Given the description of an element on the screen output the (x, y) to click on. 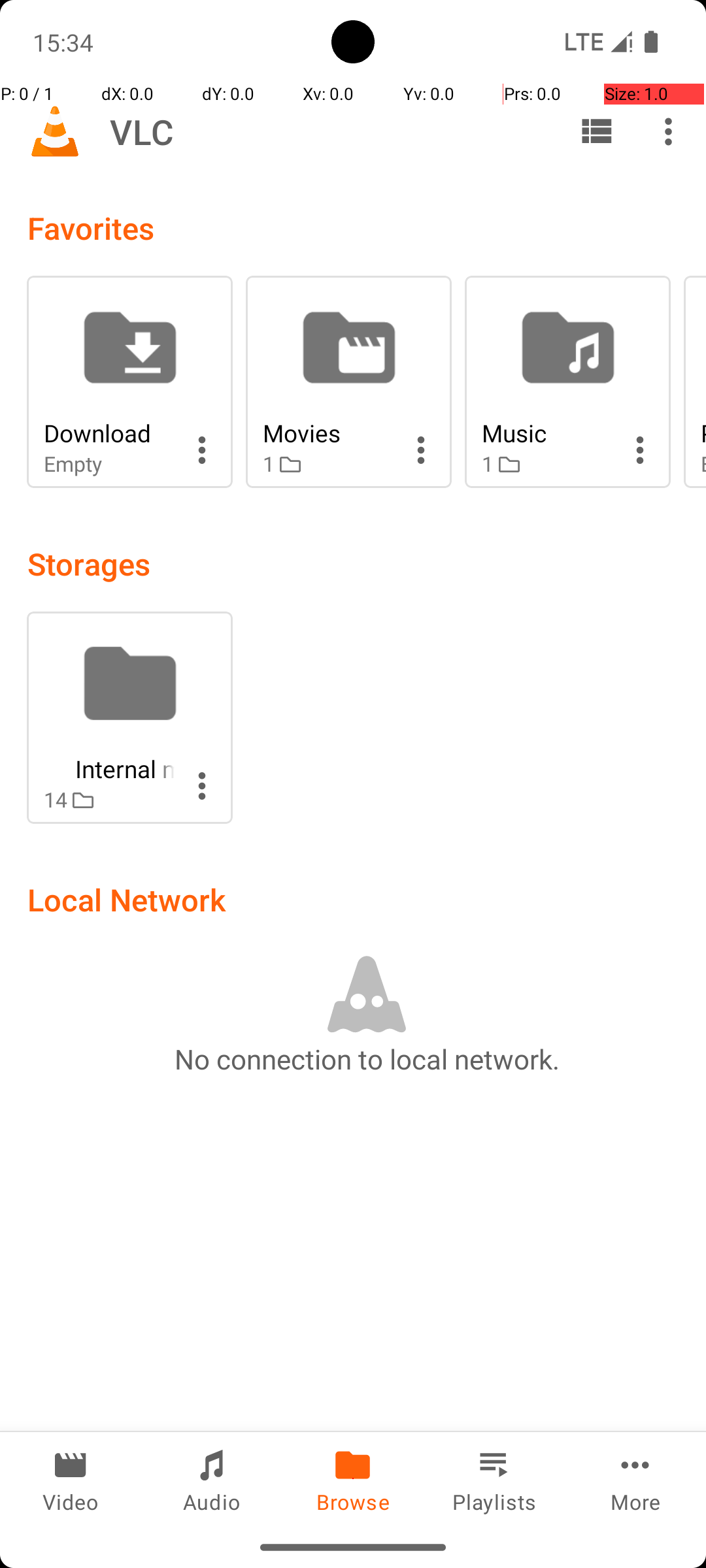
Display in list Element type: android.widget.TextView (595, 131)
Storages Element type: android.widget.TextView (88, 563)
Local Network Element type: android.widget.TextView (126, 898)
No connection to local network. Element type: android.widget.TextView (366, 1058)
Favorite: Download, Empty Element type: androidx.cardview.widget.CardView (129, 381)
Favorite: Movies, 1 subfolder Element type: androidx.cardview.widget.CardView (348, 381)
Favorite: Music, 1 subfolder Element type: androidx.cardview.widget.CardView (567, 381)
Favorite: Podcasts, Empty Element type: androidx.cardview.widget.CardView (694, 381)
Folder: Internal memory, 14 subfolders Element type: androidx.cardview.widget.CardView (129, 717)
Empty Element type: android.widget.TextView (108, 463)
More Actions Element type: android.widget.ImageView (201, 449)
Movies Element type: android.widget.TextView (327, 432)
1 §*§ Element type: android.widget.TextView (327, 463)
Podcasts Element type: android.widget.TextView (703, 432)
Internal memory Element type: android.widget.TextView (108, 768)
14 §*§ Element type: android.widget.TextView (108, 799)
